Given the description of an element on the screen output the (x, y) to click on. 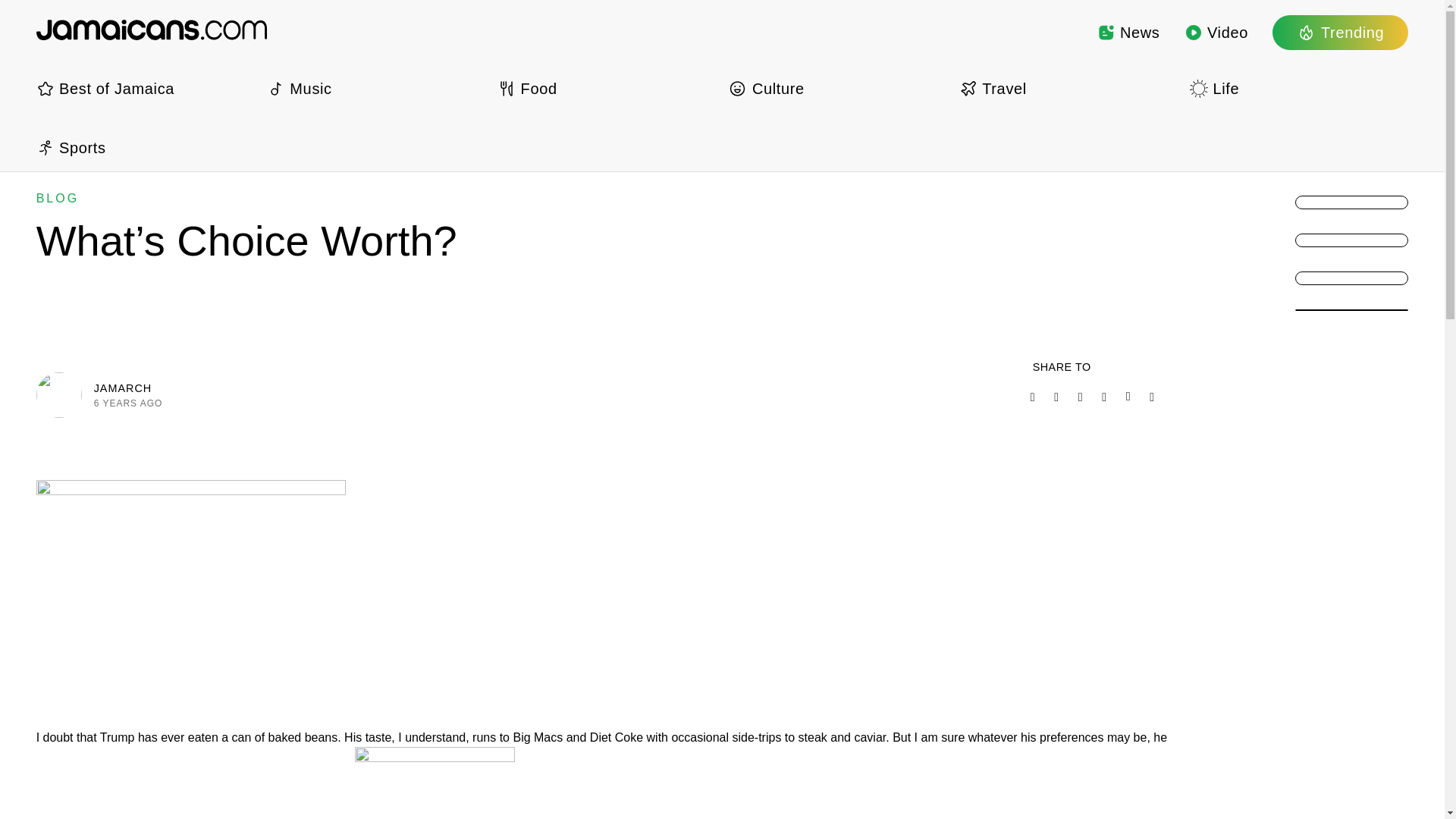
Music (375, 88)
Food (606, 88)
Travel (1068, 88)
Trending (1339, 32)
Video (1216, 32)
Life (1298, 88)
Culture (837, 88)
BLOG (57, 197)
Sports (145, 147)
Best of Jamaica (145, 88)
News (1128, 32)
